Given the description of an element on the screen output the (x, y) to click on. 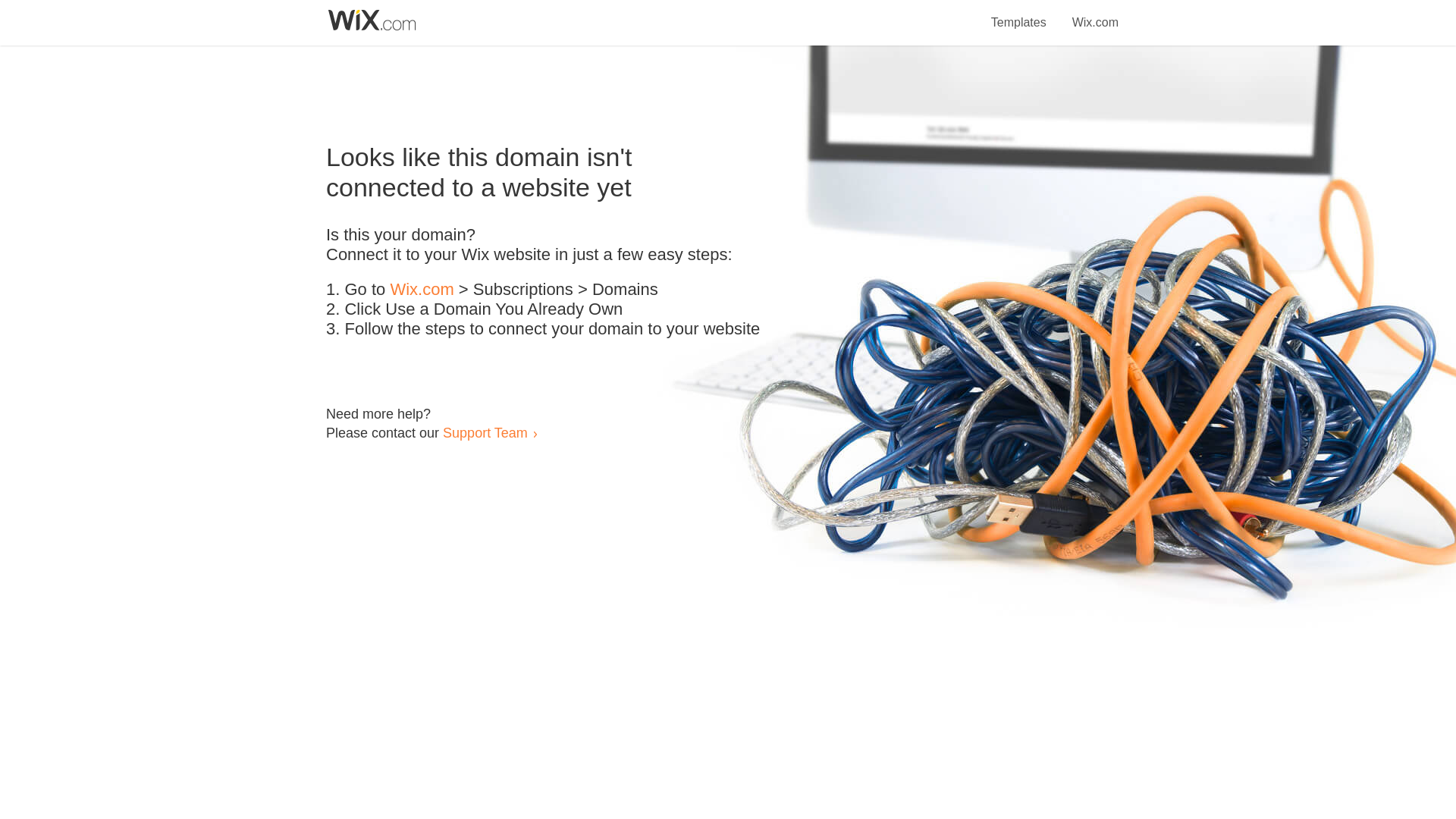
Wix.com (1095, 14)
Support Team (484, 432)
Wix.com (421, 289)
Templates (1018, 14)
